Given the description of an element on the screen output the (x, y) to click on. 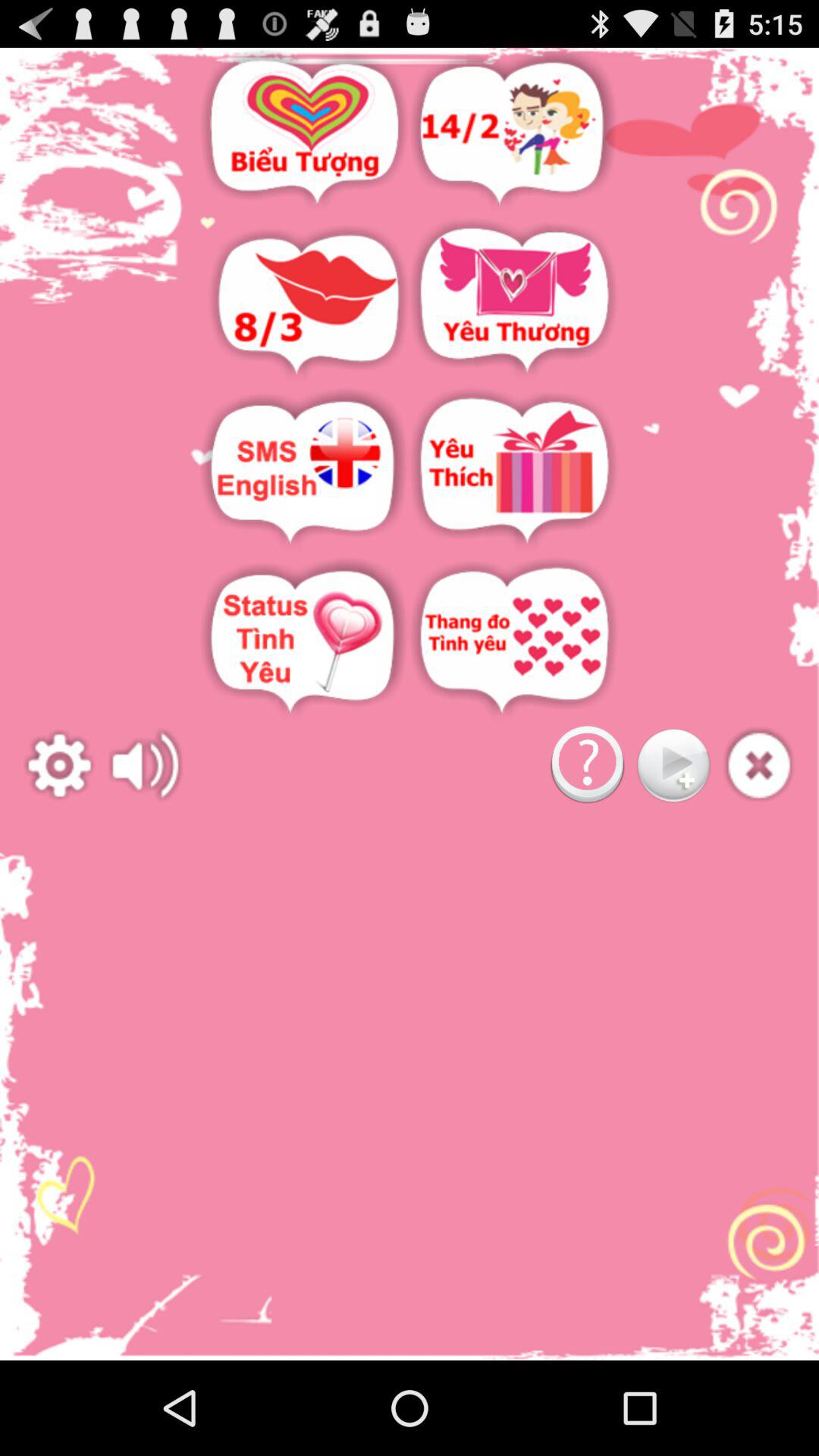
select option (513, 301)
